Given the description of an element on the screen output the (x, y) to click on. 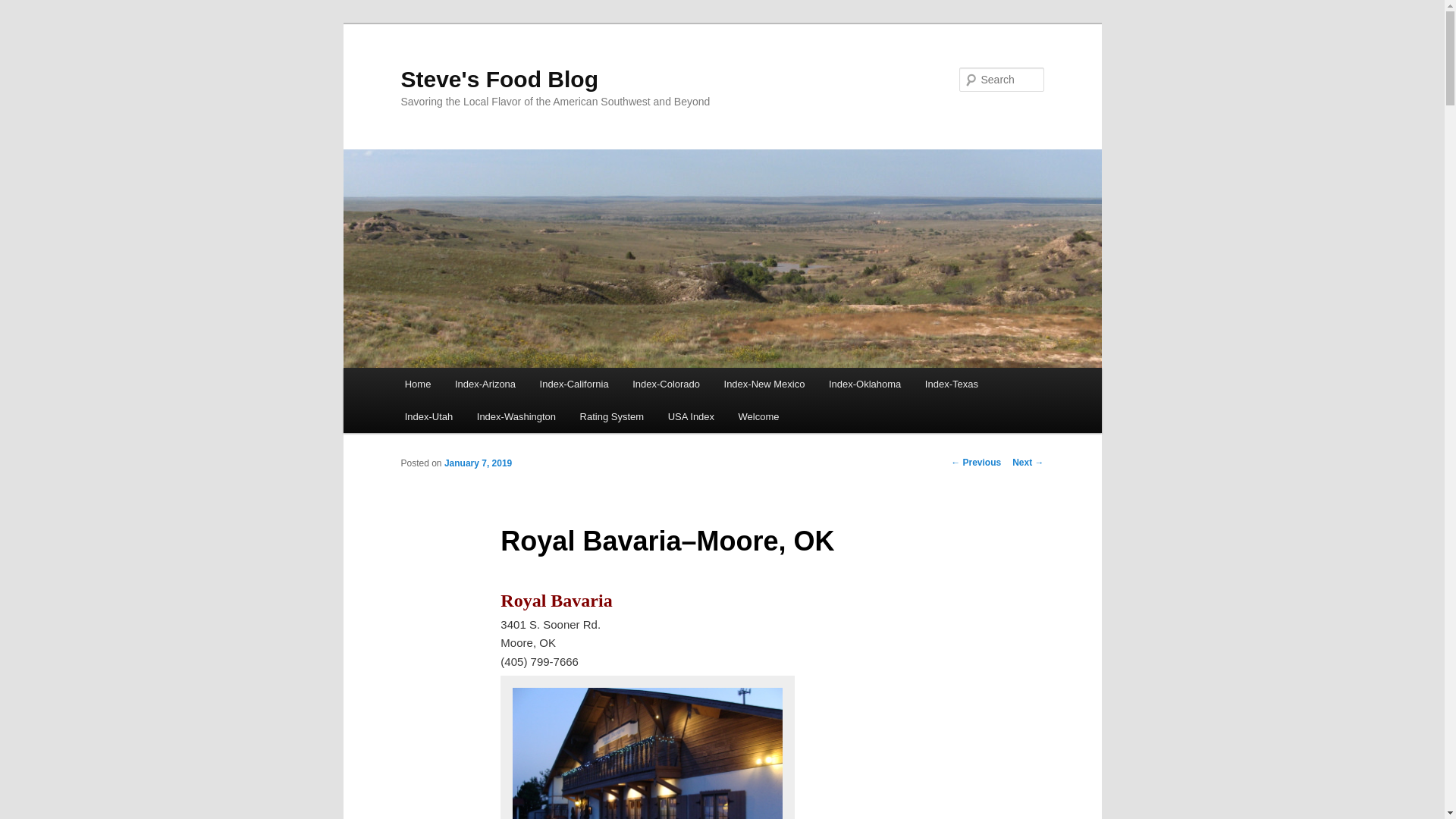
Index-Oklahoma (864, 383)
Welcome (758, 416)
USA Index (691, 416)
Steve's Food Blog (499, 78)
Index-Utah (428, 416)
Search (24, 8)
Index-New Mexico (763, 383)
Index-Colorado (665, 383)
Home (417, 383)
Index-Texas (951, 383)
10:45 pm (478, 462)
Index-Arizona (484, 383)
Index-California (574, 383)
Index-Washington (515, 416)
